Given the description of an element on the screen output the (x, y) to click on. 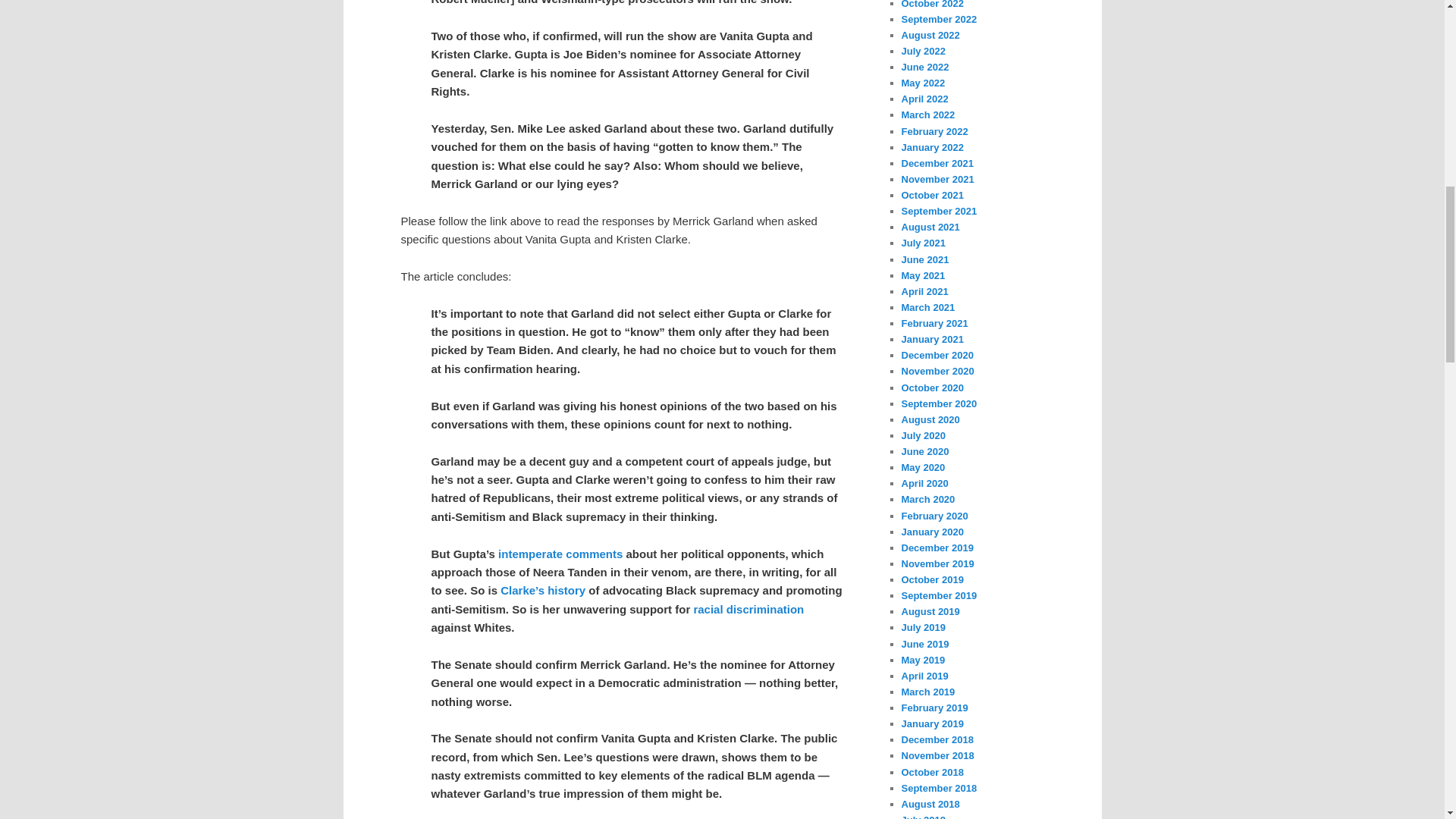
intemperate comments (560, 553)
racial discrimination (748, 608)
